Given the description of an element on the screen output the (x, y) to click on. 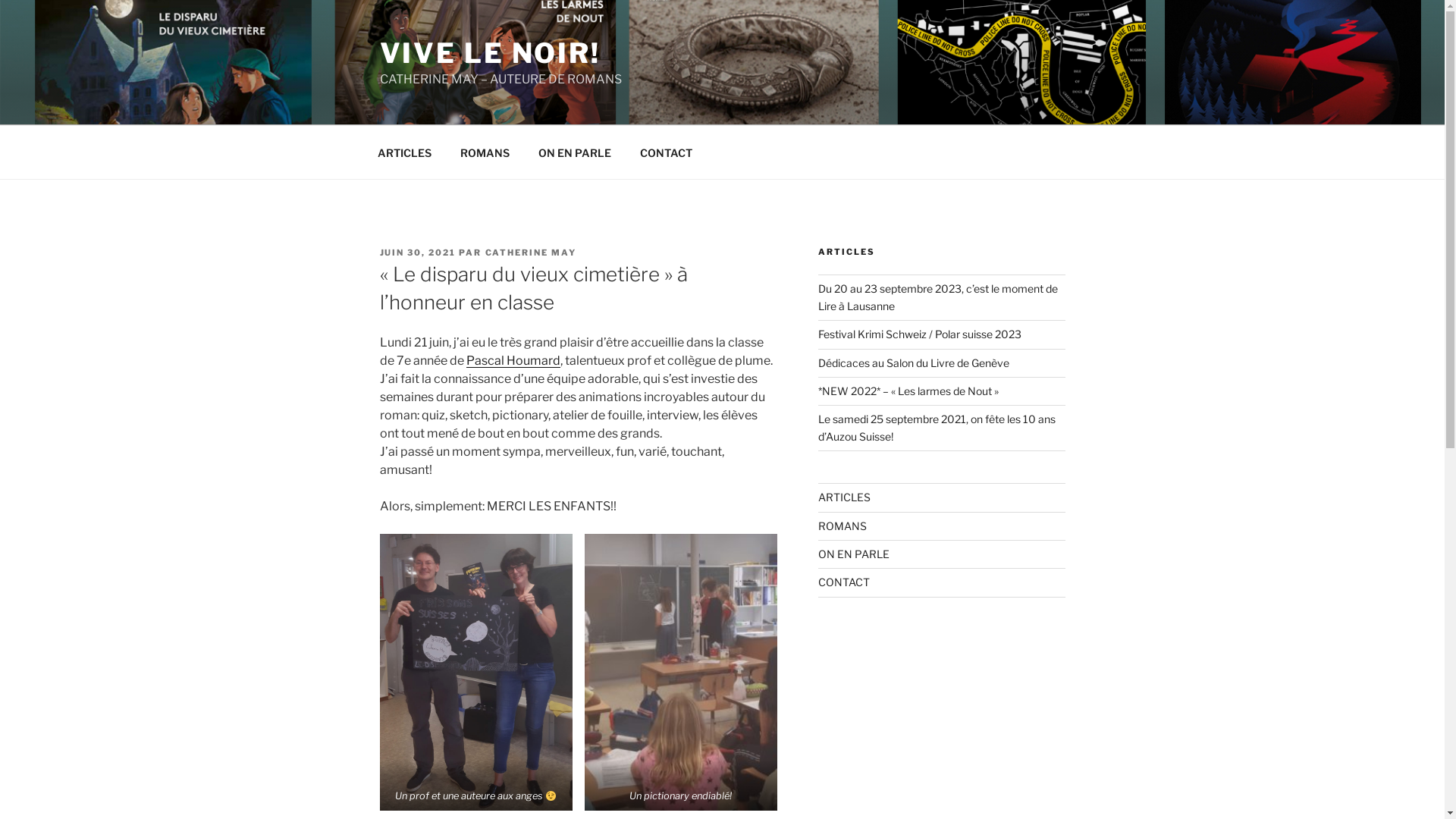
VIVE LE NOIR! Element type: text (489, 52)
CONTACT Element type: text (843, 581)
ROMANS Element type: text (485, 151)
ON EN PARLE Element type: text (574, 151)
CATHERINE MAY Element type: text (531, 252)
JUIN 30, 2021 Element type: text (417, 252)
ROMANS Element type: text (842, 525)
ON EN PARLE Element type: text (853, 553)
Pascal Houmard Element type: text (512, 360)
ARTICLES Element type: text (404, 151)
Festival Krimi Schweiz / Polar suisse 2023 Element type: text (919, 333)
ARTICLES Element type: text (844, 496)
CONTACT Element type: text (665, 151)
